Given the description of an element on the screen output the (x, y) to click on. 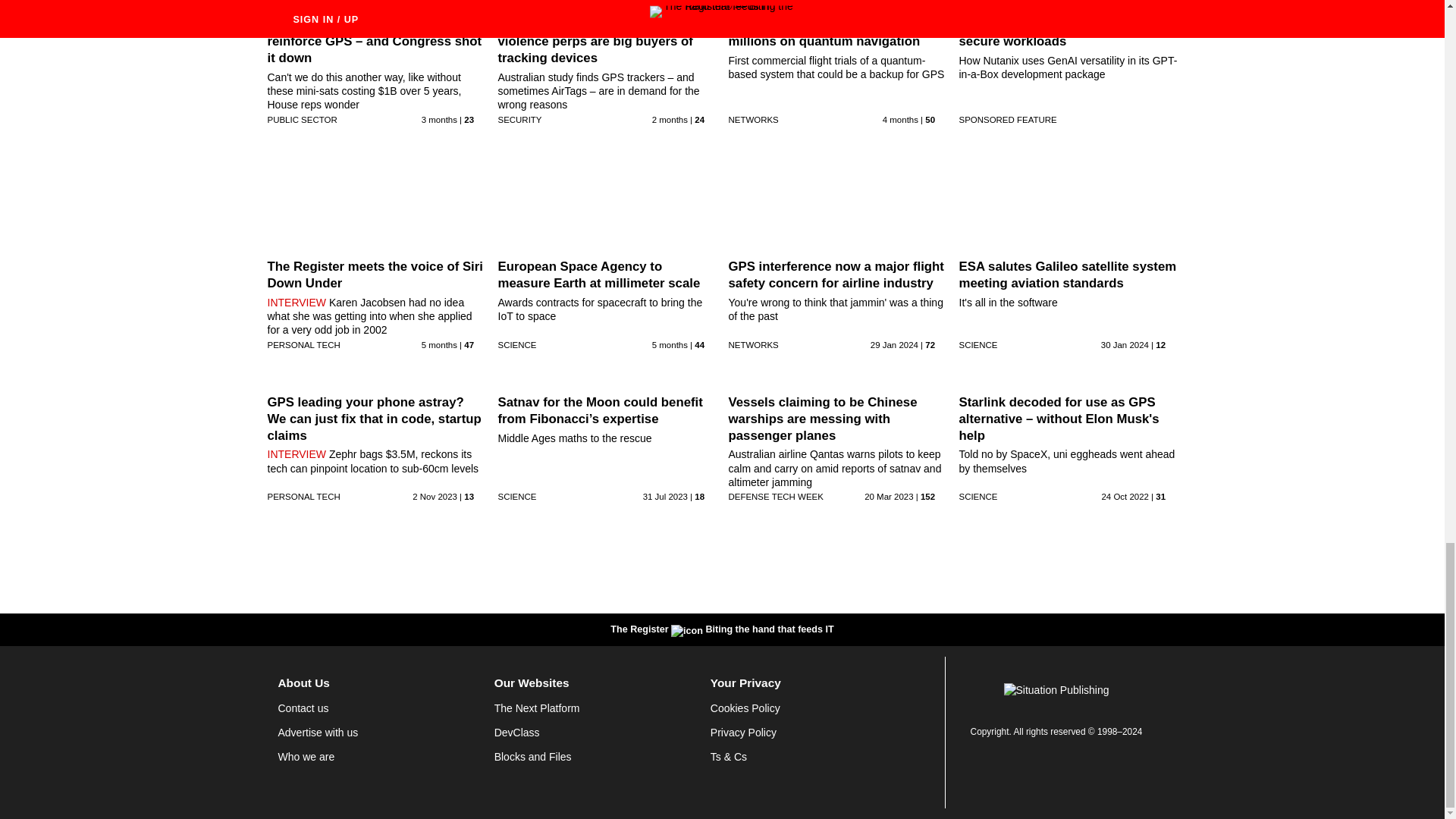
14 May 2024 10:15 (900, 119)
26 Jun 2024 3:45 (669, 119)
13 Jun 2024 22:42 (439, 119)
20 Mar 2024 7:30 (669, 344)
30 Mar 2024 22:0 (439, 344)
